Given the description of an element on the screen output the (x, y) to click on. 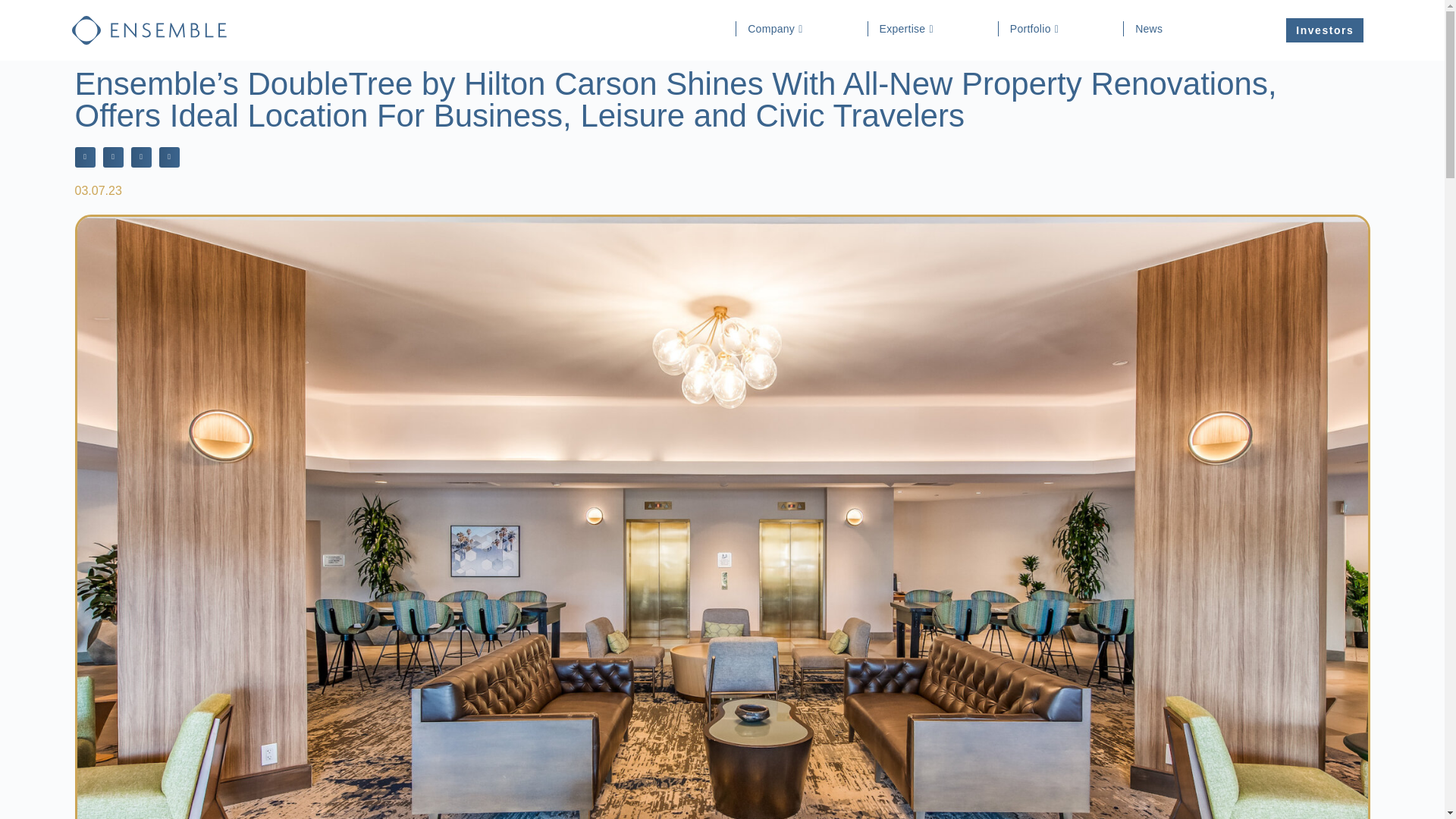
News (1151, 28)
Company (778, 28)
Skip to content (15, 7)
Portfolio (1037, 28)
Expertise (909, 28)
03.07.23 (97, 190)
Investors (1323, 30)
